Given the description of an element on the screen output the (x, y) to click on. 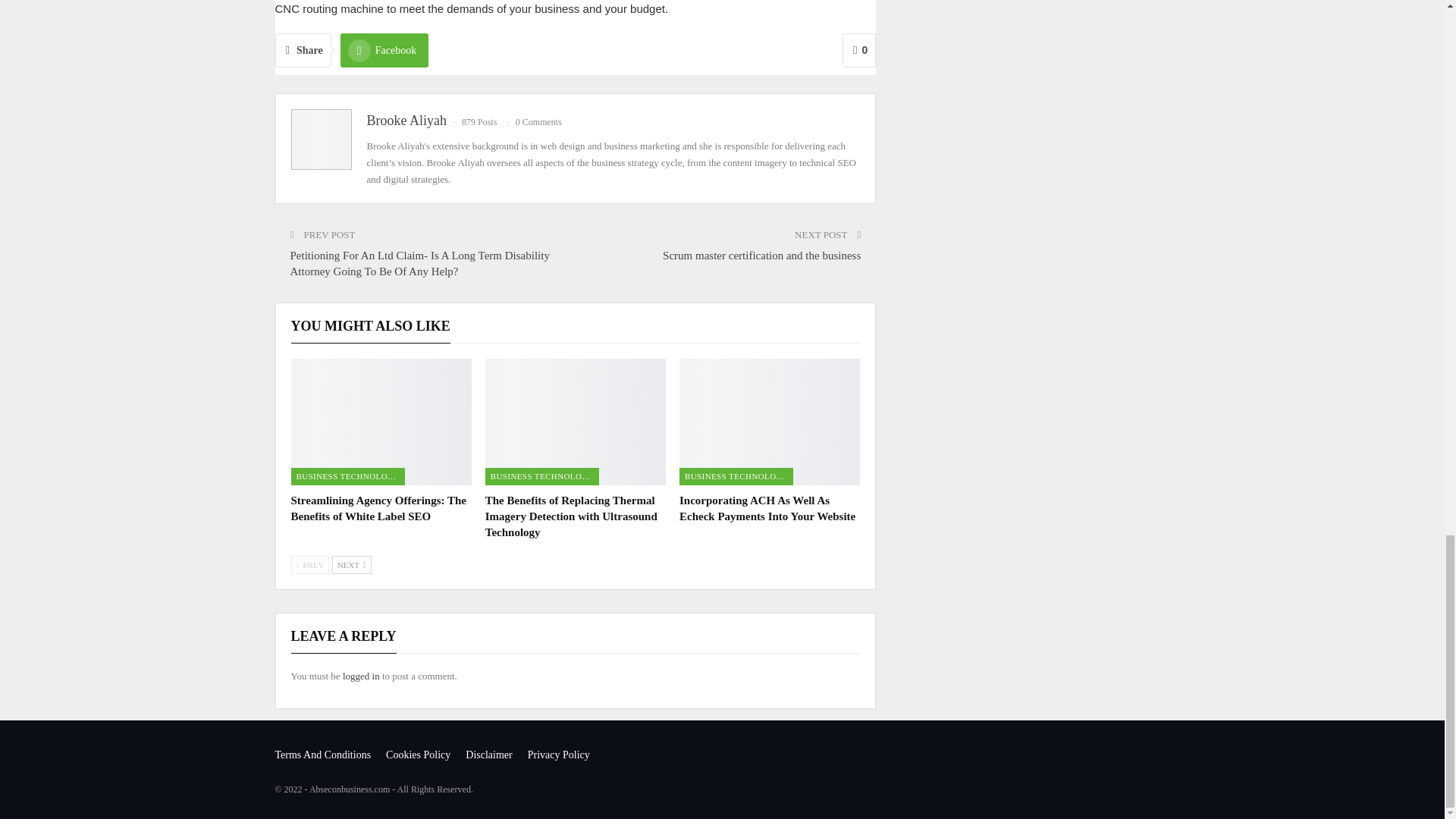
BUSINESS TECHNOLOGY (736, 476)
Scrum master certification and the business (761, 255)
BUSINESS TECHNOLOGY (541, 476)
BUSINESS TECHNOLOGY (347, 476)
Brooke Aliyah (406, 120)
Facebook (384, 50)
YOU MIGHT ALSO LIKE (370, 326)
0 (859, 50)
